Given the description of an element on the screen output the (x, y) to click on. 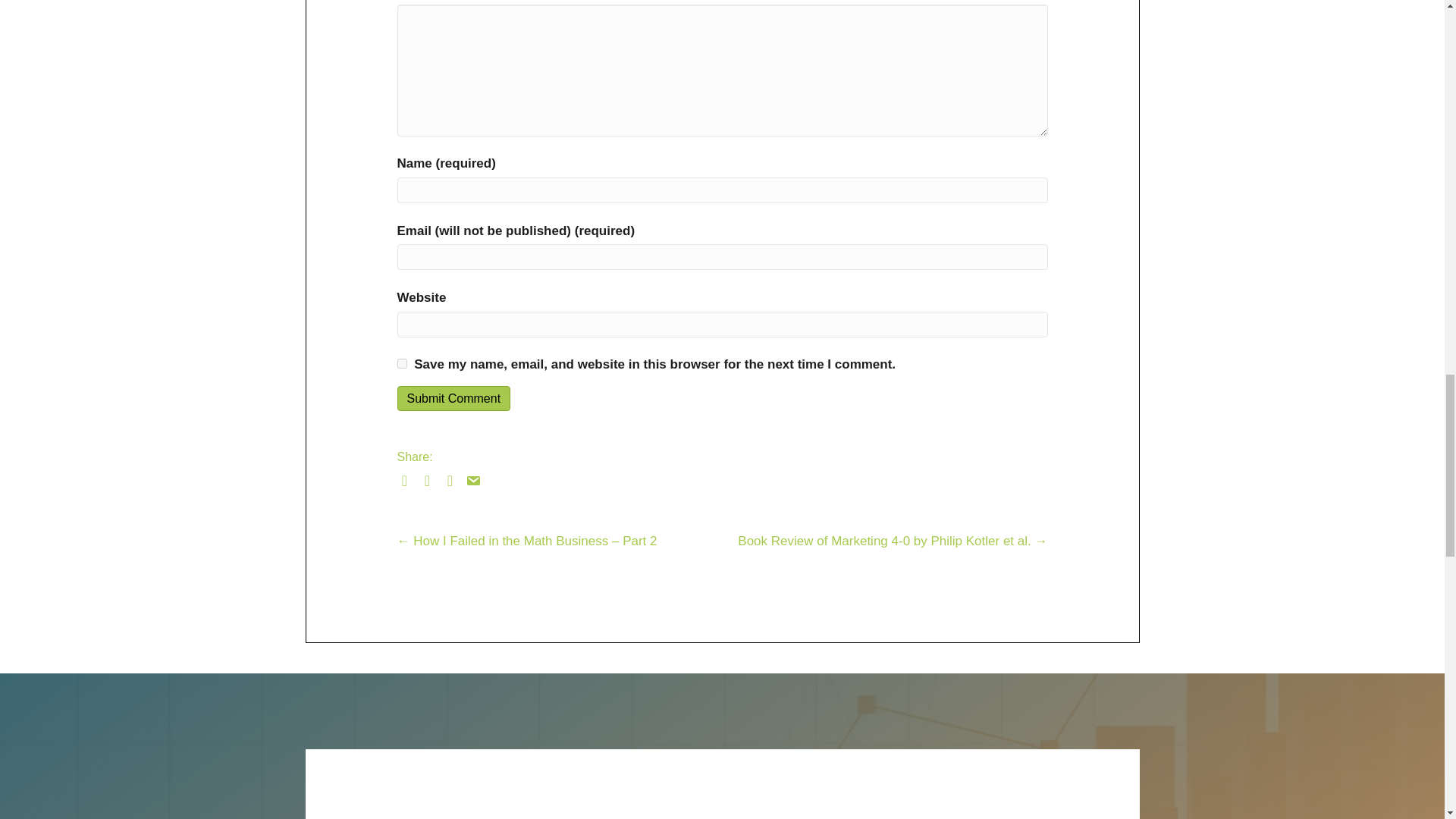
yes (402, 363)
Submit Comment (454, 398)
Submit Comment (454, 398)
